Given the description of an element on the screen output the (x, y) to click on. 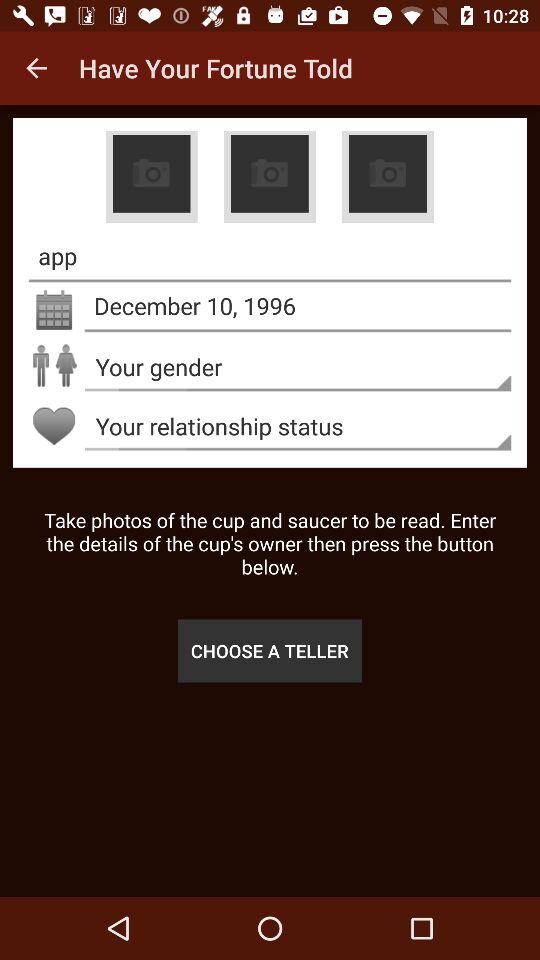
add a photo (269, 177)
